Given the description of an element on the screen output the (x, y) to click on. 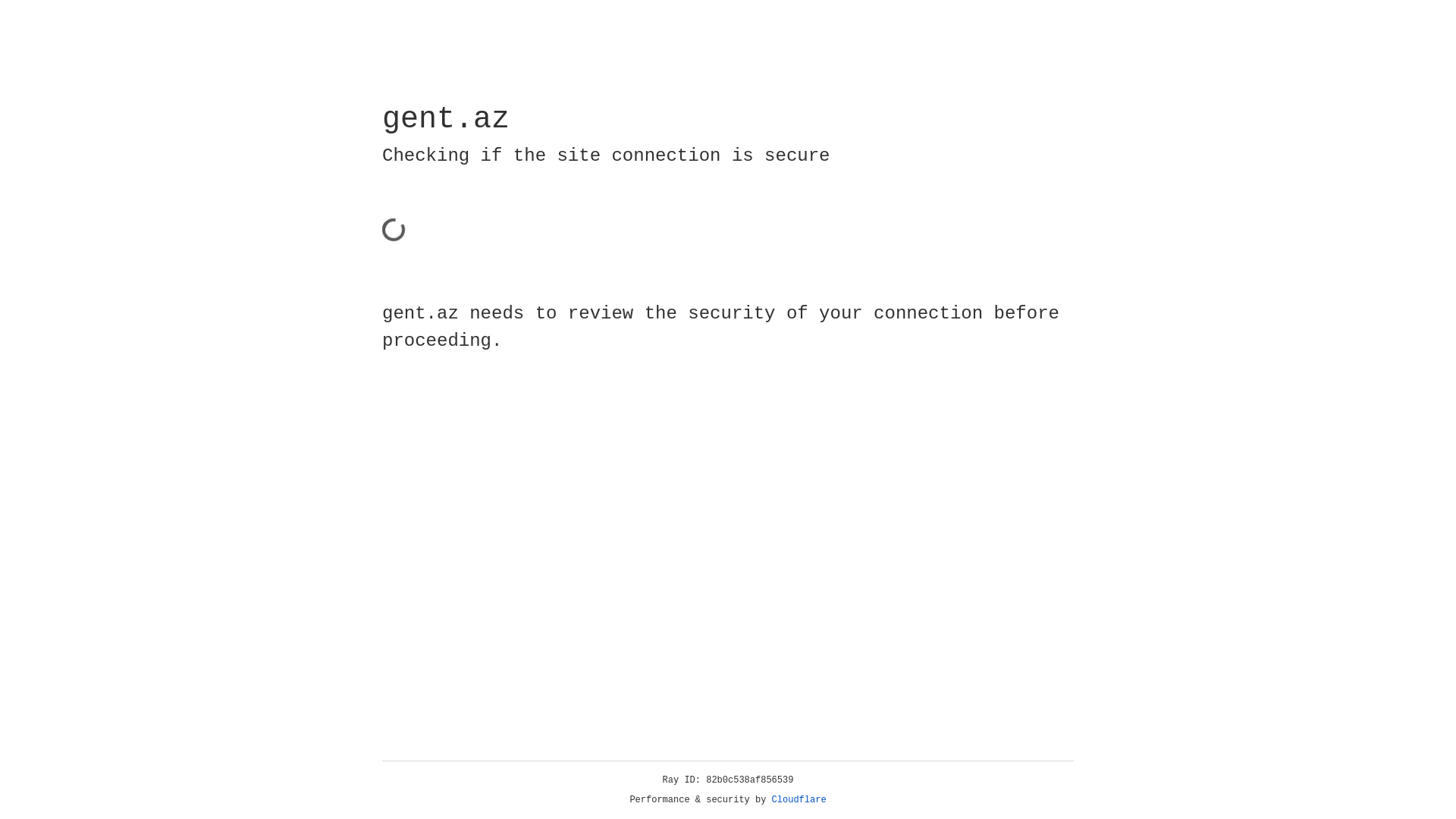
Cloudflare Element type: text (798, 799)
